Given the description of an element on the screen output the (x, y) to click on. 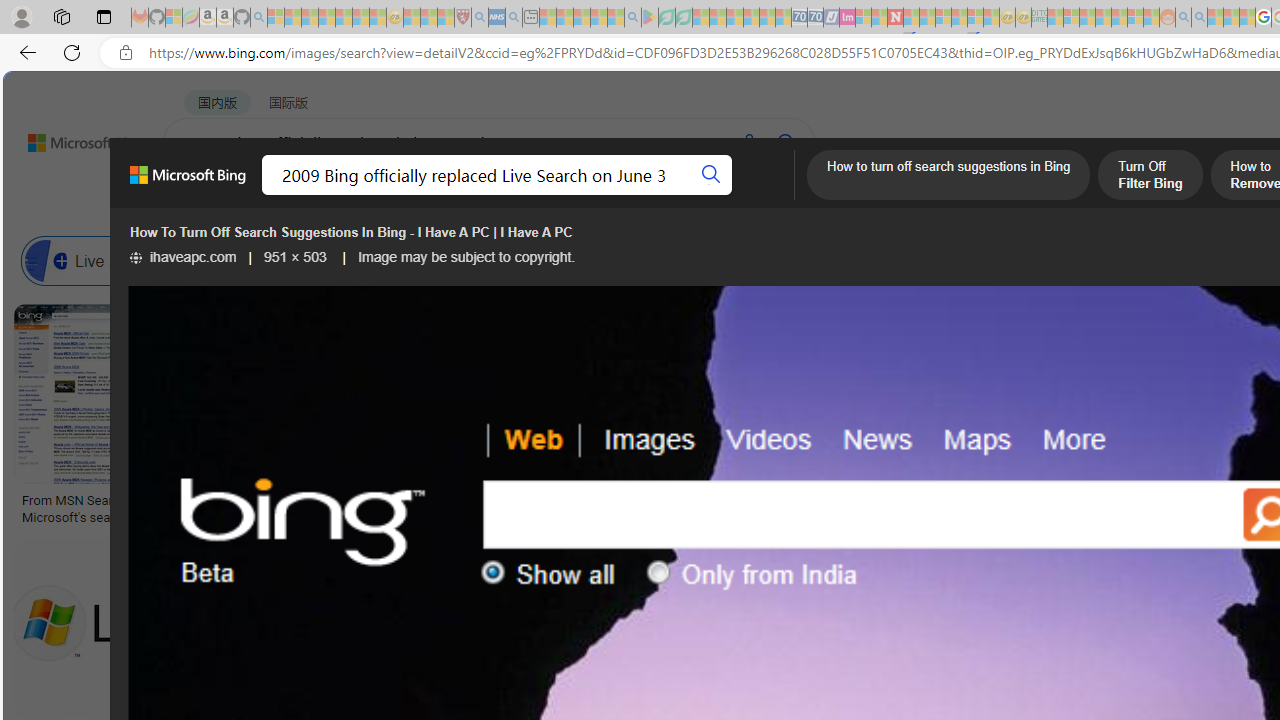
Bing Logo and symbol, meaning, history, PNG, brand (418, 508)
Cheap Hotels - Save70.com - Sleeping (815, 17)
MORE (793, 195)
Search using voice (748, 142)
IMAGES (360, 195)
VIDEOS (545, 195)
DICT (717, 195)
Utah sues federal government - Search - Sleeping (1199, 17)
DICT (717, 195)
Robert H. Shmerling, MD - Harvard Health - Sleeping (462, 17)
